Given the description of an element on the screen output the (x, y) to click on. 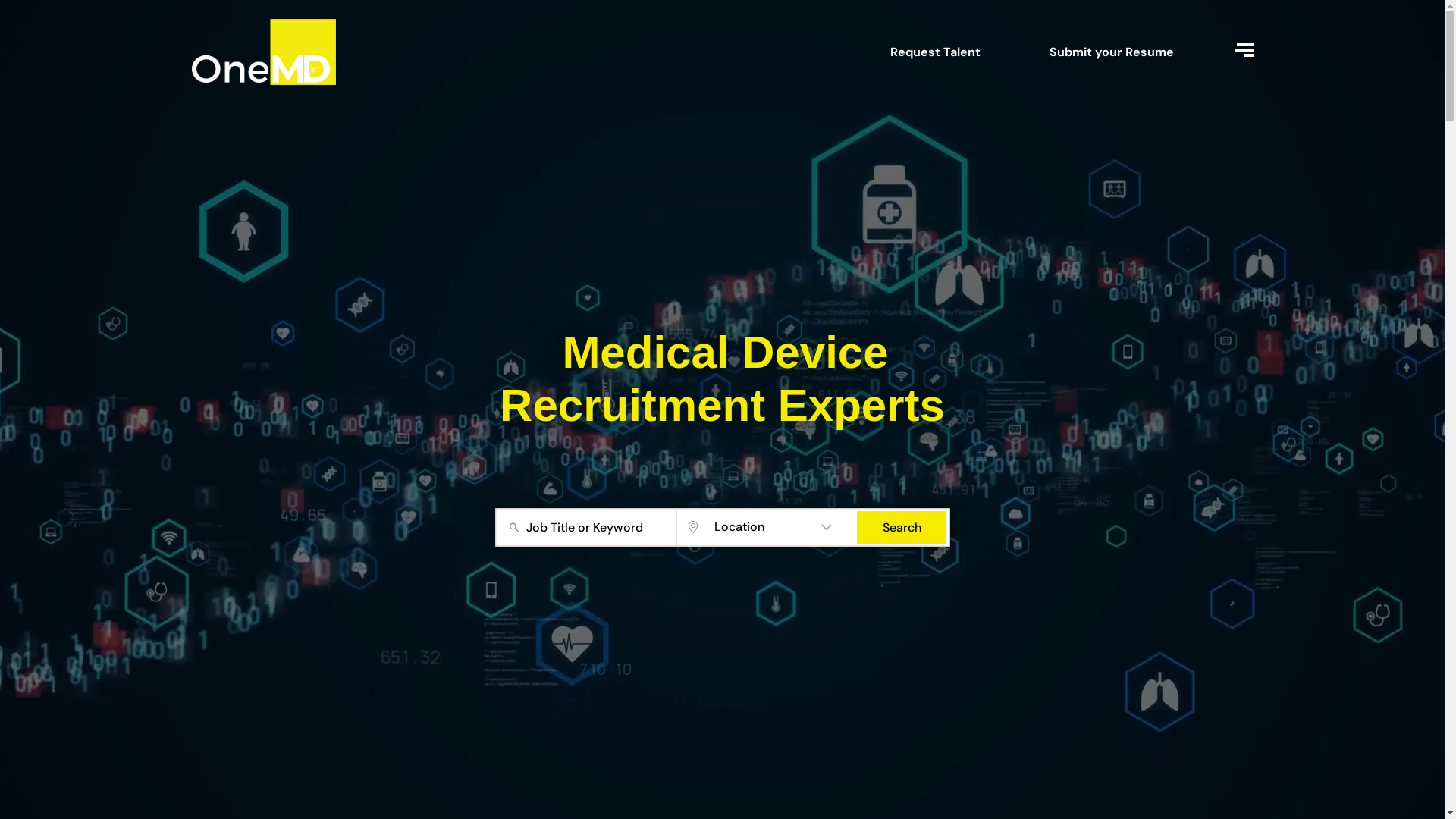
Submit your Resume Element type: text (1111, 51)
Request Talent Element type: text (935, 51)
Search Element type: text (901, 527)
OneMD_FINAL_white Element type: hover (263, 51)
